Given the description of an element on the screen output the (x, y) to click on. 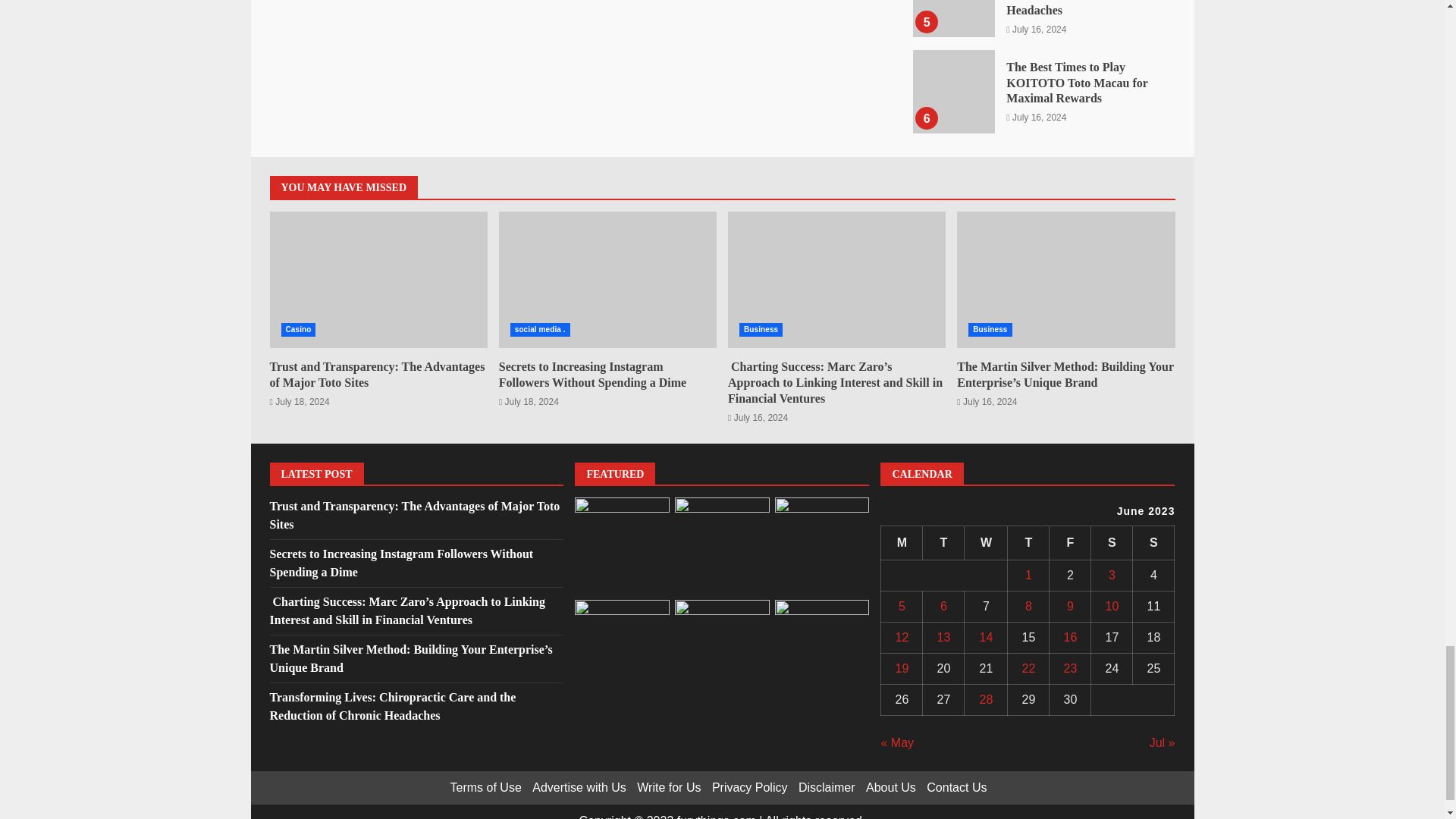
Friday (1069, 543)
Thursday (1028, 543)
Saturday (1111, 543)
Monday (901, 543)
Tuesday (943, 543)
Wednesday (985, 543)
Sunday (1153, 543)
